Given the description of an element on the screen output the (x, y) to click on. 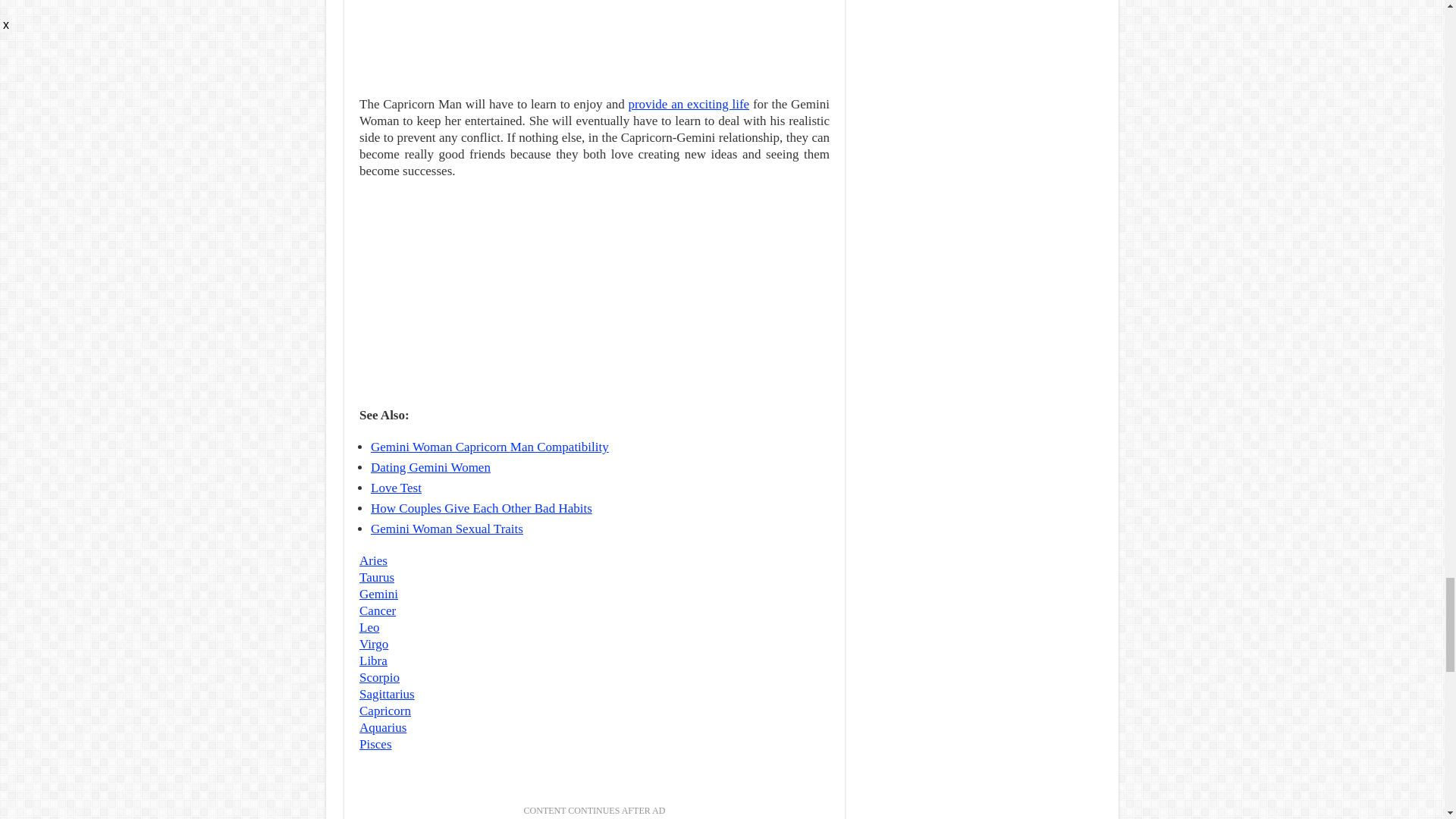
provide an exciting life (688, 104)
